Given the description of an element on the screen output the (x, y) to click on. 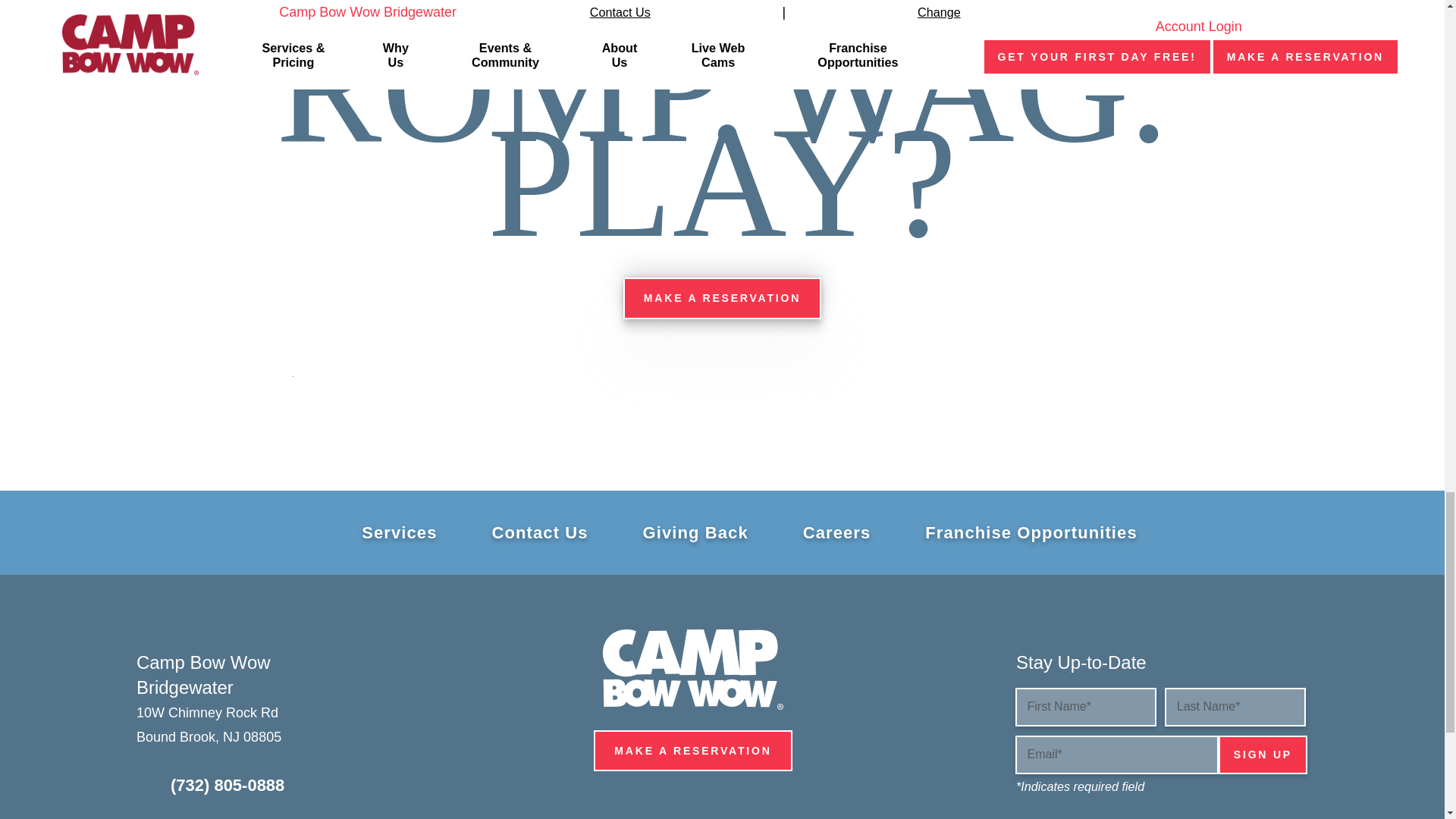
Click here to make a reservation. (693, 750)
Please enter your first name. (1085, 706)
Please enter your email address. (1116, 754)
Camp Bow Wow (692, 669)
Please enter your last name. (1235, 706)
Click here to make a reservation. (722, 297)
